Given the description of an element on the screen output the (x, y) to click on. 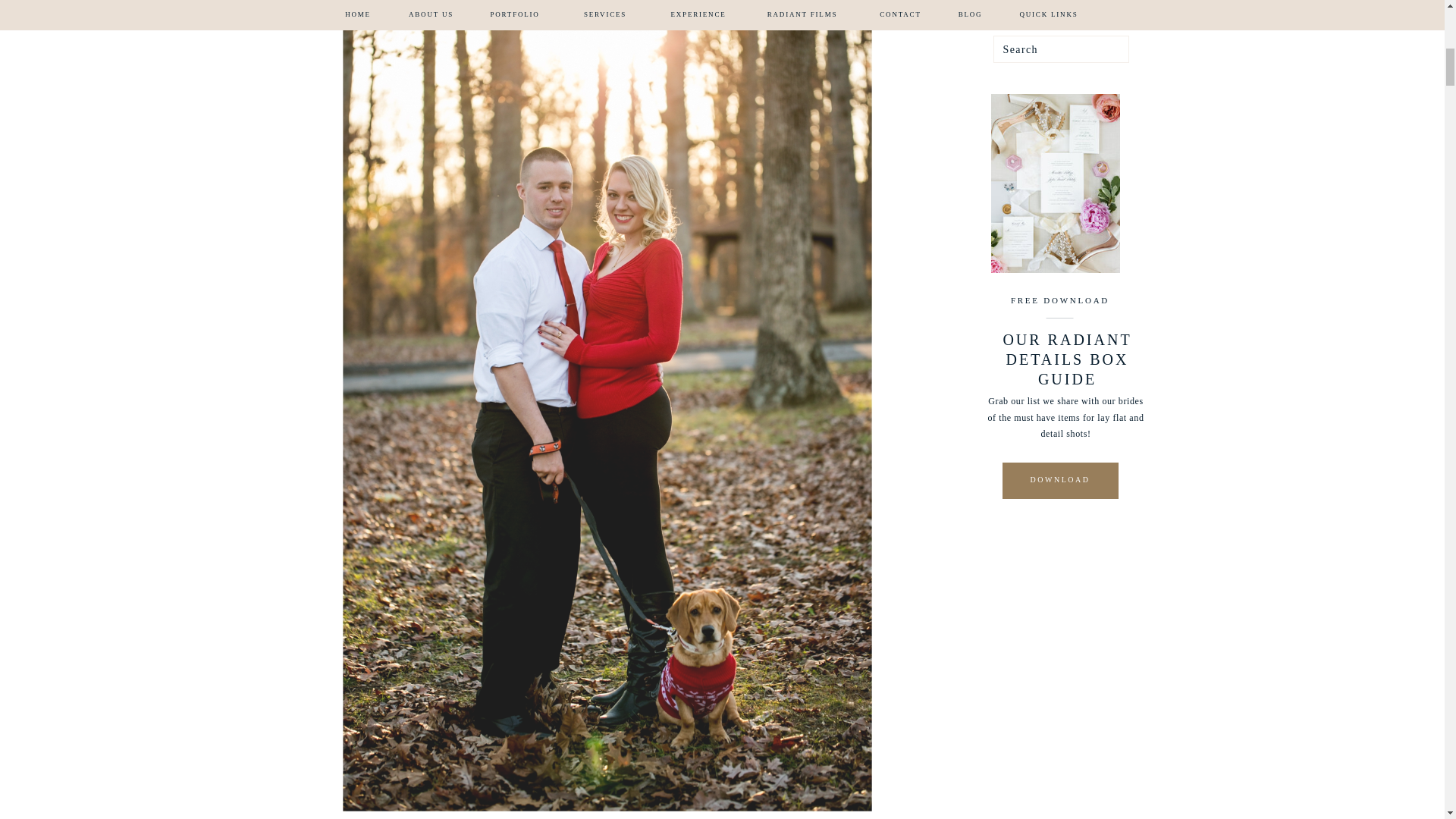
DOWNLOAD (1059, 479)
